Given the description of an element on the screen output the (x, y) to click on. 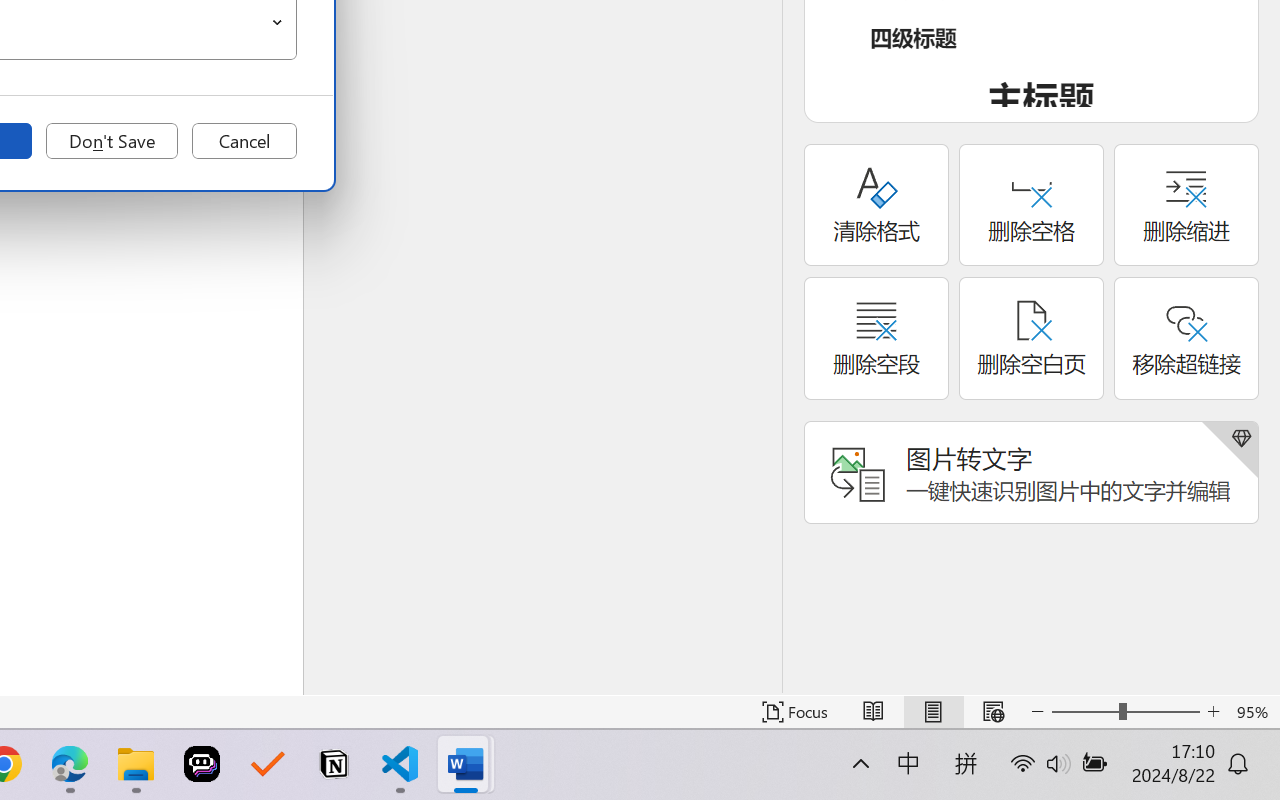
Cancel (244, 141)
Zoom 95% (1253, 712)
